Given the description of an element on the screen output the (x, y) to click on. 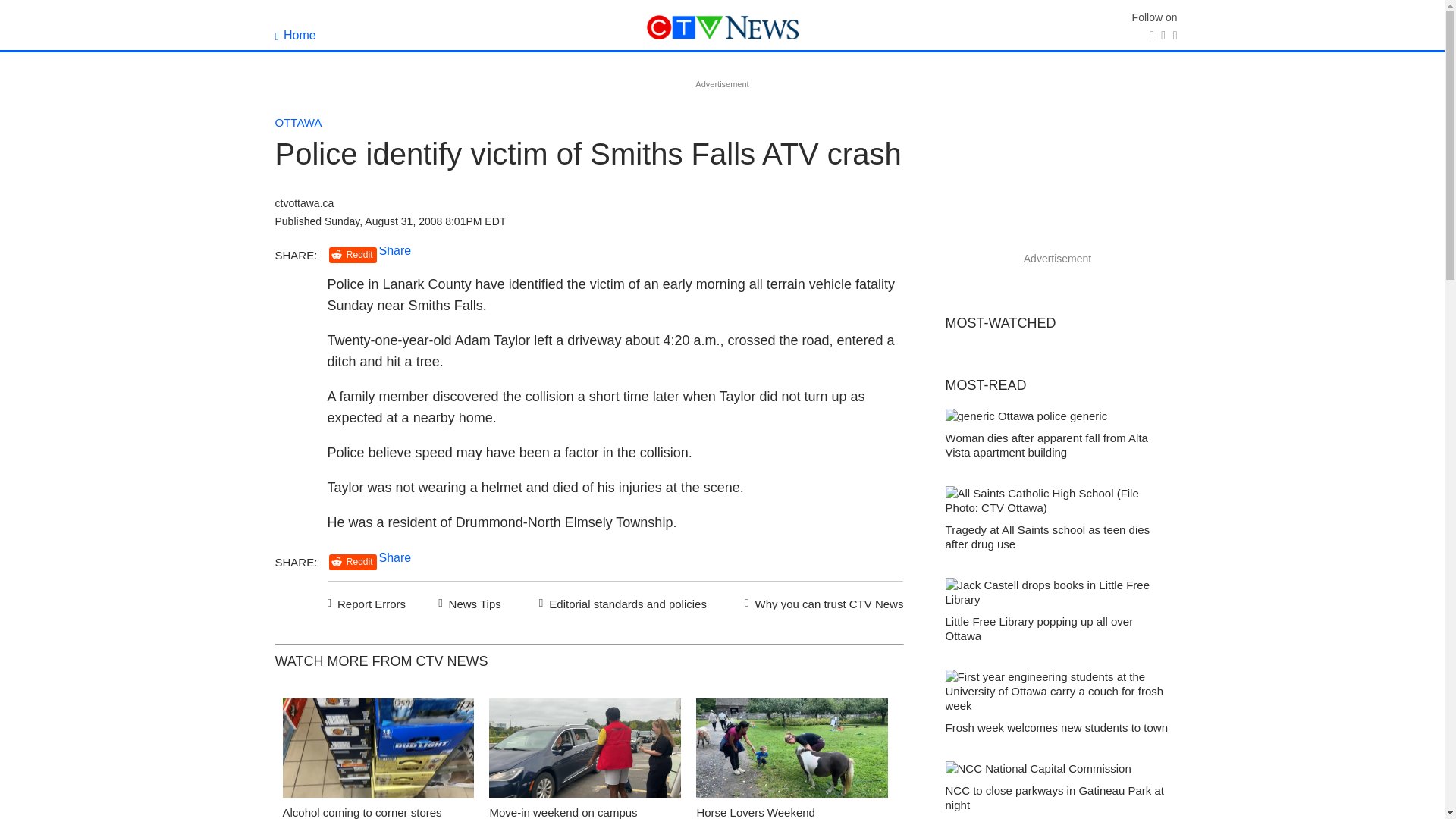
Share (395, 557)
false (791, 747)
News Tips (469, 601)
Home (295, 34)
Move-in weekend on campus (563, 812)
Horse Lovers Weekend (754, 812)
Report Errors (366, 601)
Editorial standards and policies (620, 601)
Alcohol coming to corner stores (378, 751)
Reddit (353, 562)
